Given the description of an element on the screen output the (x, y) to click on. 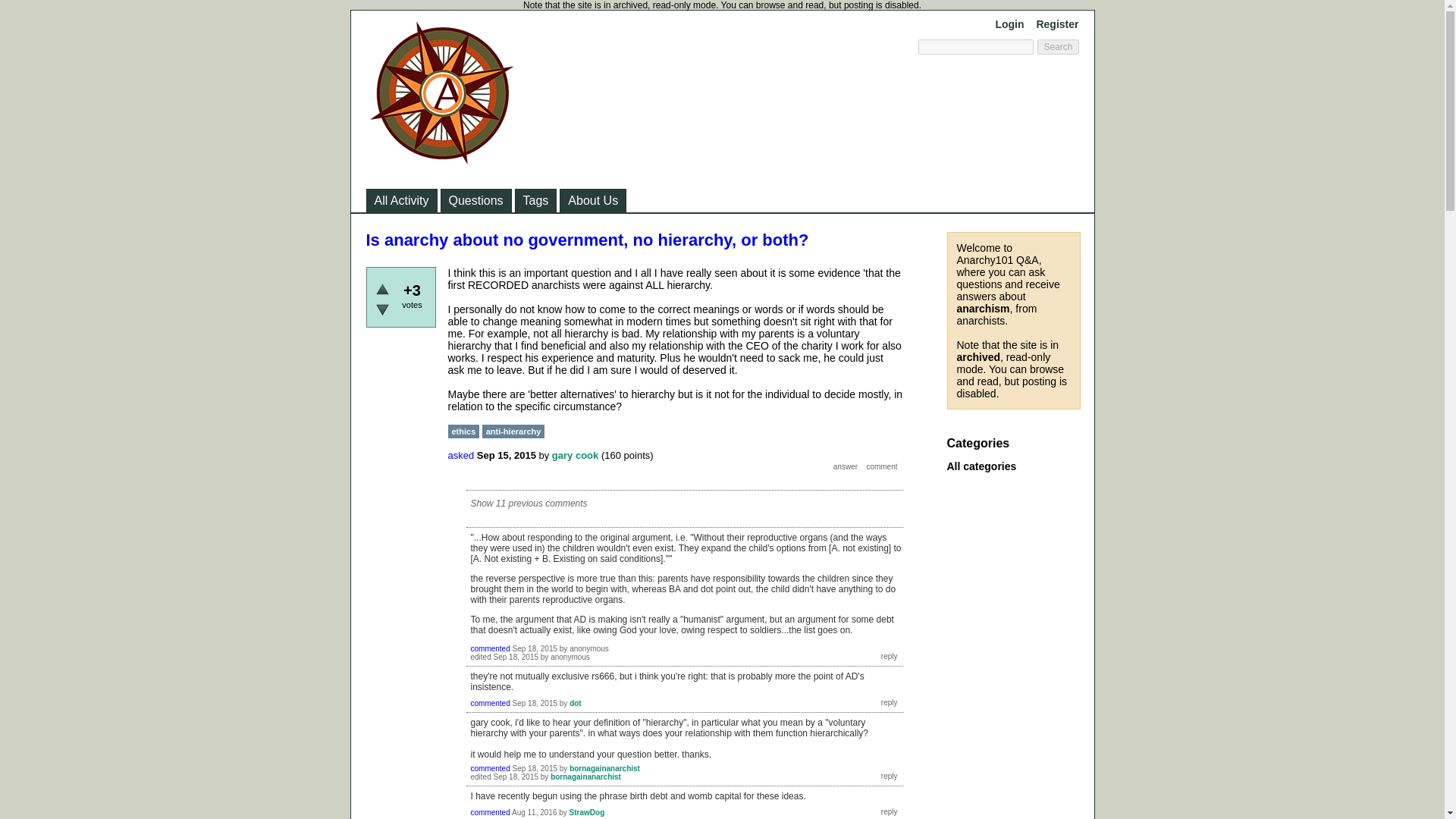
Add a comment on this question (881, 466)
dot (574, 703)
reply (889, 655)
All Activity (401, 200)
reply (889, 655)
commented (489, 648)
reply (889, 776)
Search (1057, 46)
Is anarchy about no government, no hierarchy, or both? (586, 239)
Answer this question (845, 466)
bornagainanarchist (585, 777)
Reply to this comment (889, 702)
Click to vote up (381, 288)
Reply to this comment (889, 776)
Questions (476, 200)
